Given the description of an element on the screen output the (x, y) to click on. 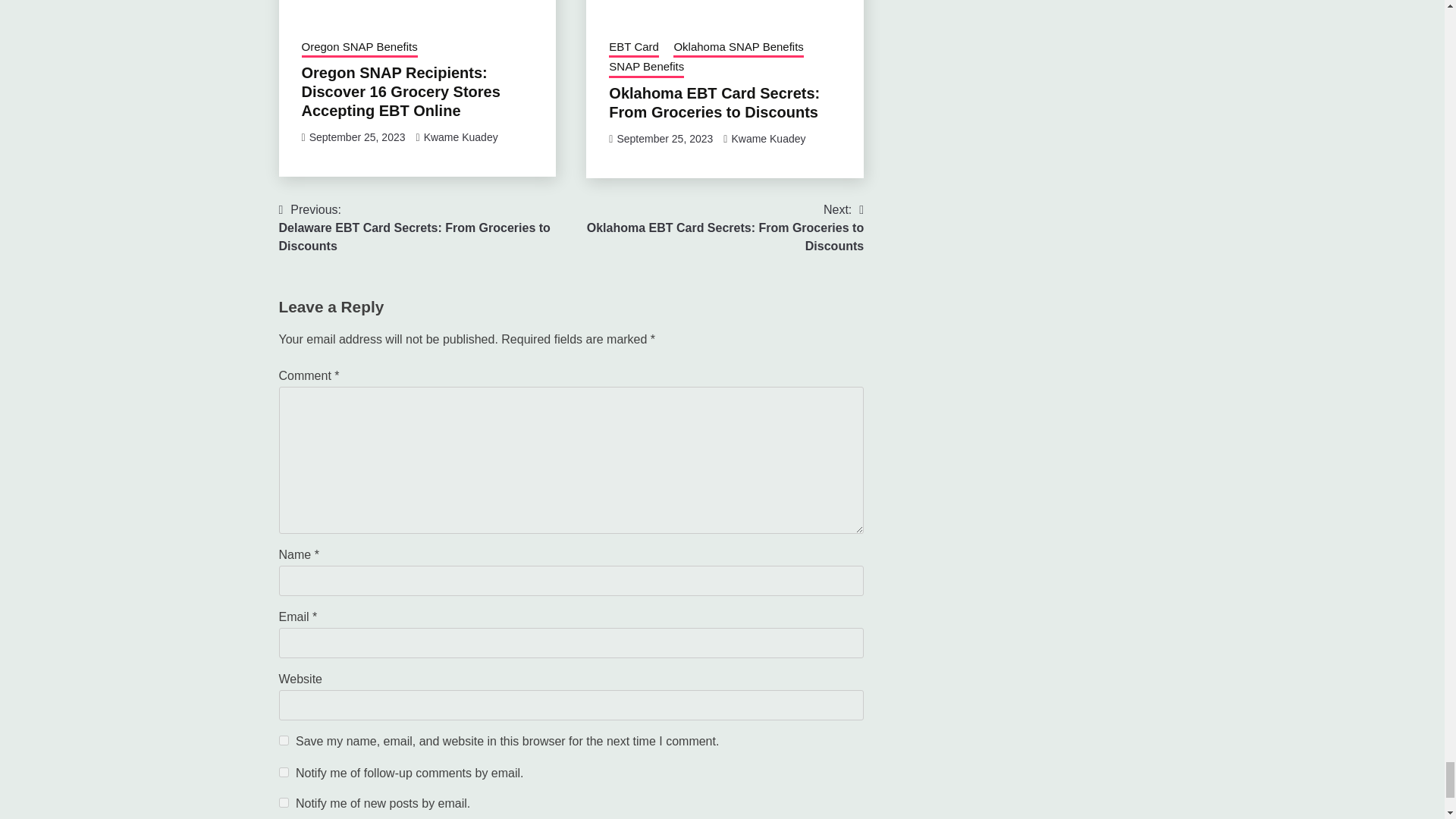
yes (283, 740)
subscribe (283, 802)
subscribe (283, 772)
